Given the description of an element on the screen output the (x, y) to click on. 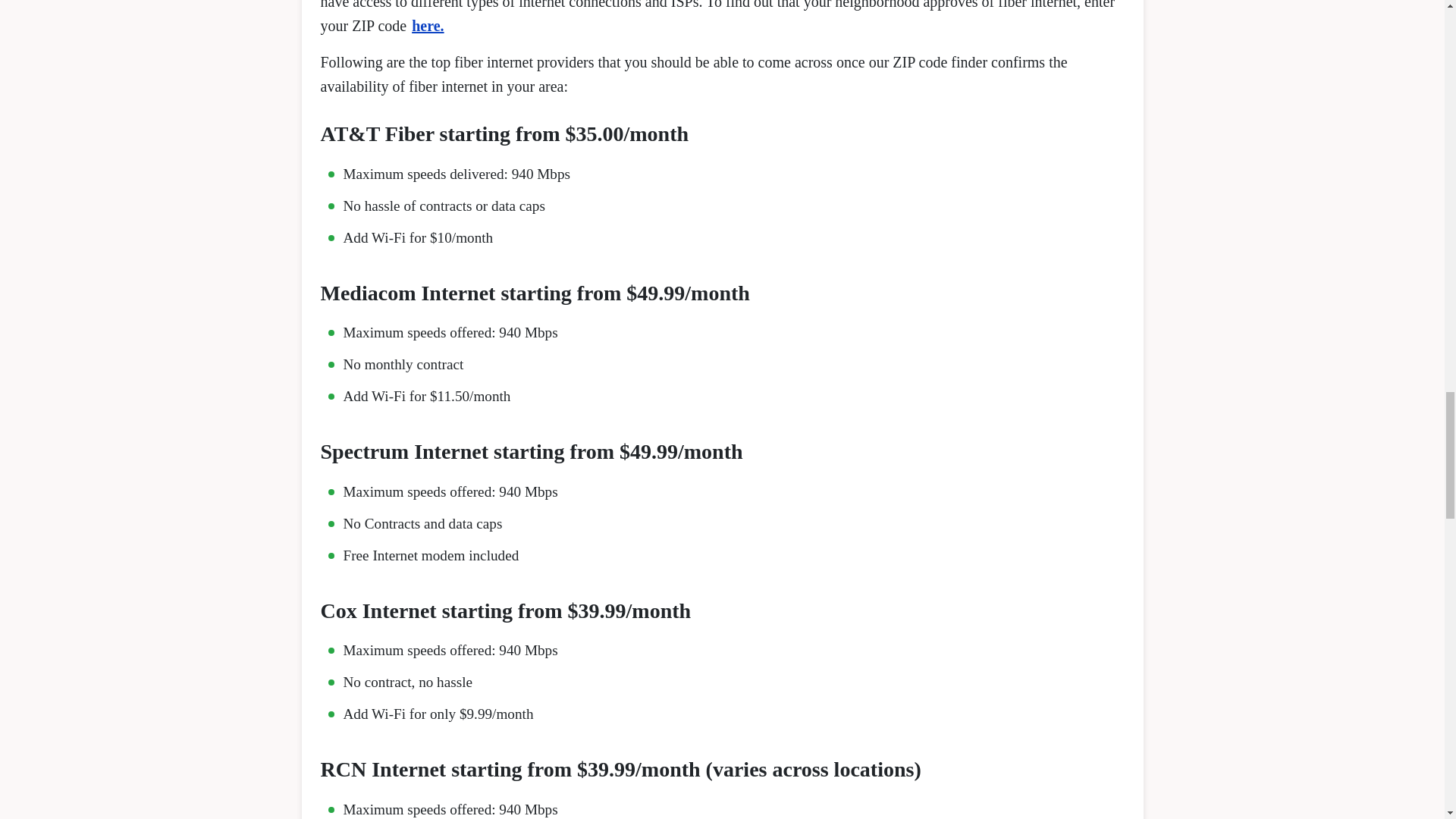
here. (427, 25)
